Given the description of an element on the screen output the (x, y) to click on. 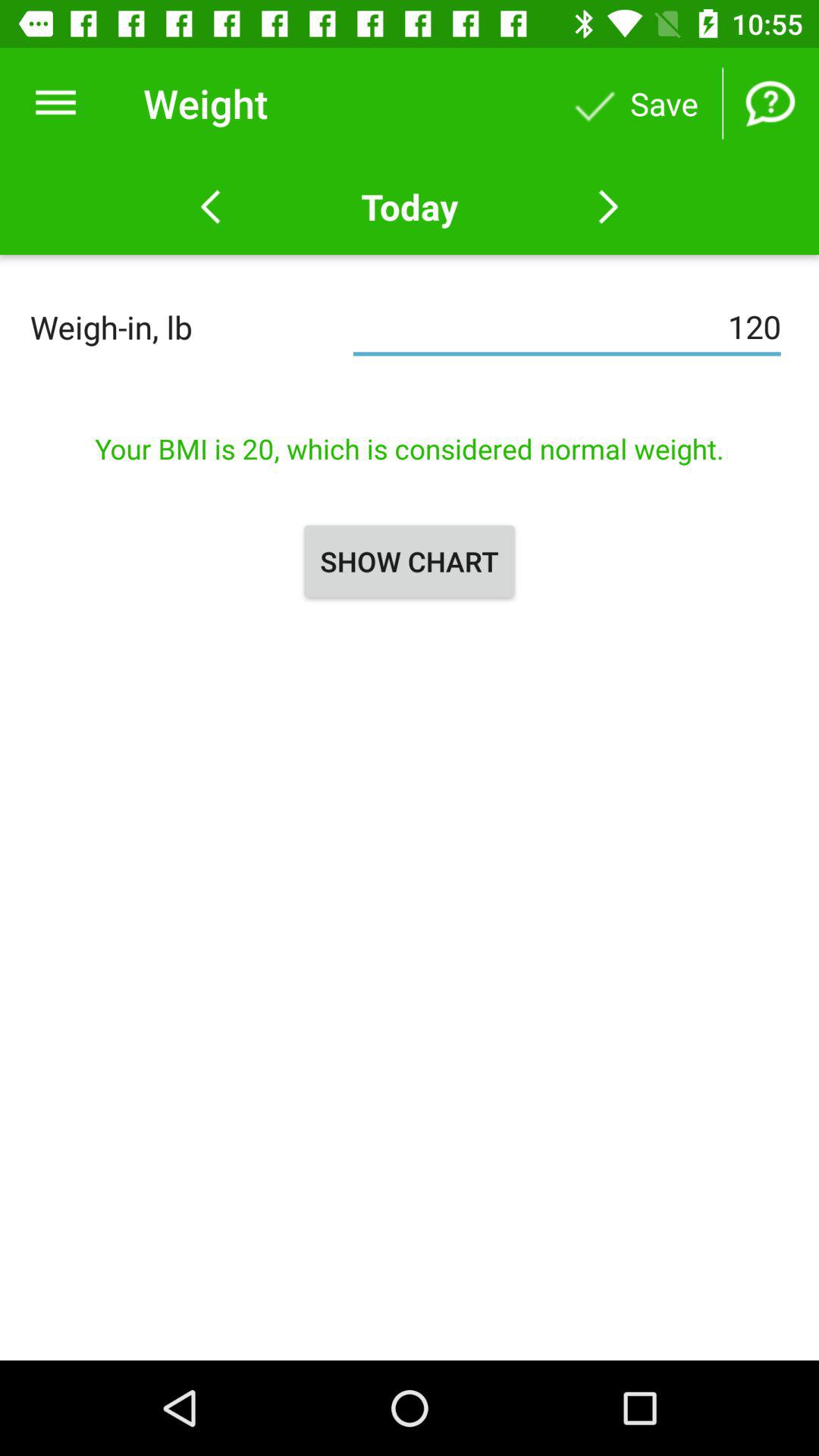
tap the today (409, 206)
